Given the description of an element on the screen output the (x, y) to click on. 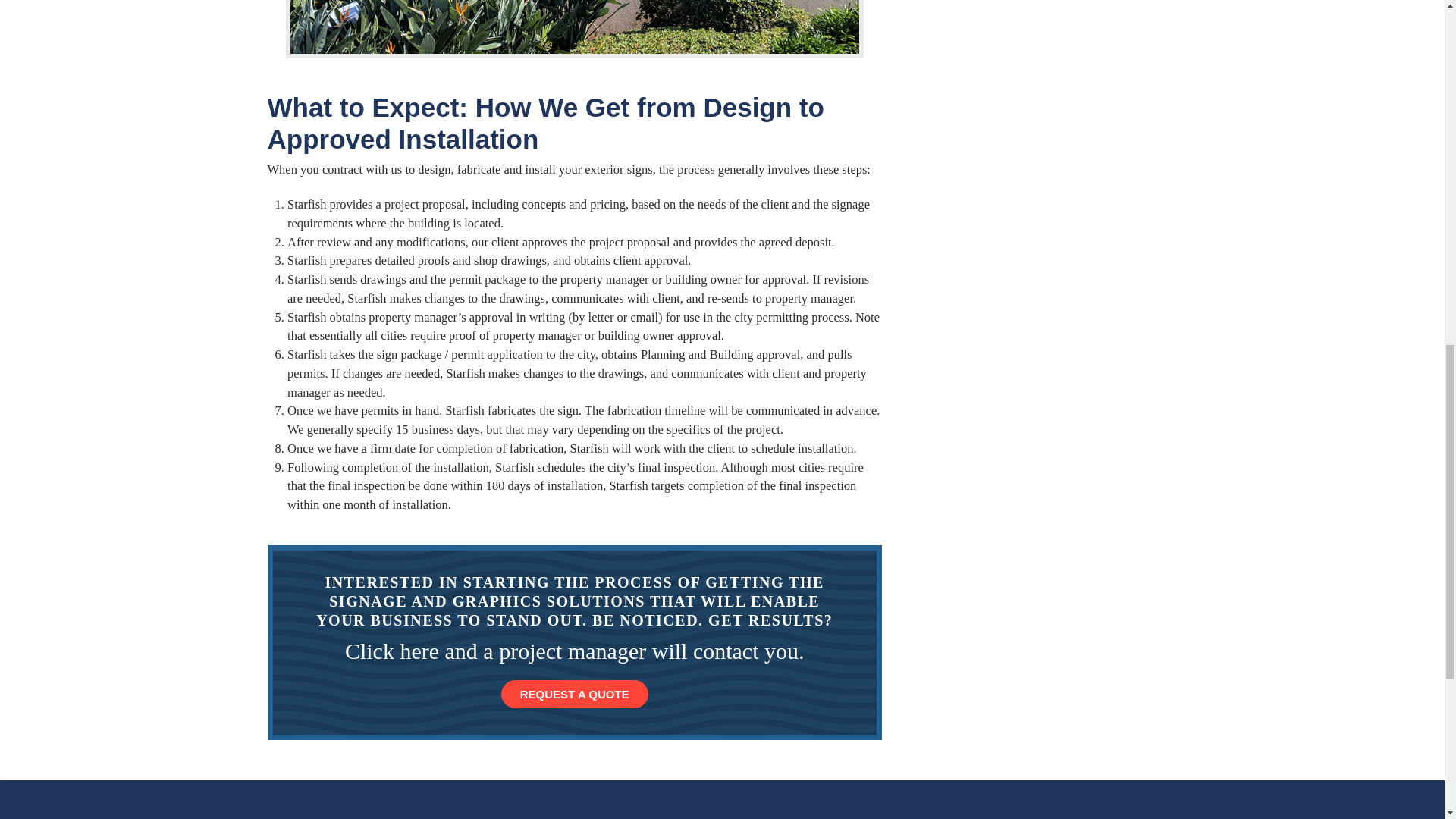
regal-cinemas-led-marquee-sign-installation (574, 27)
